Given the description of an element on the screen output the (x, y) to click on. 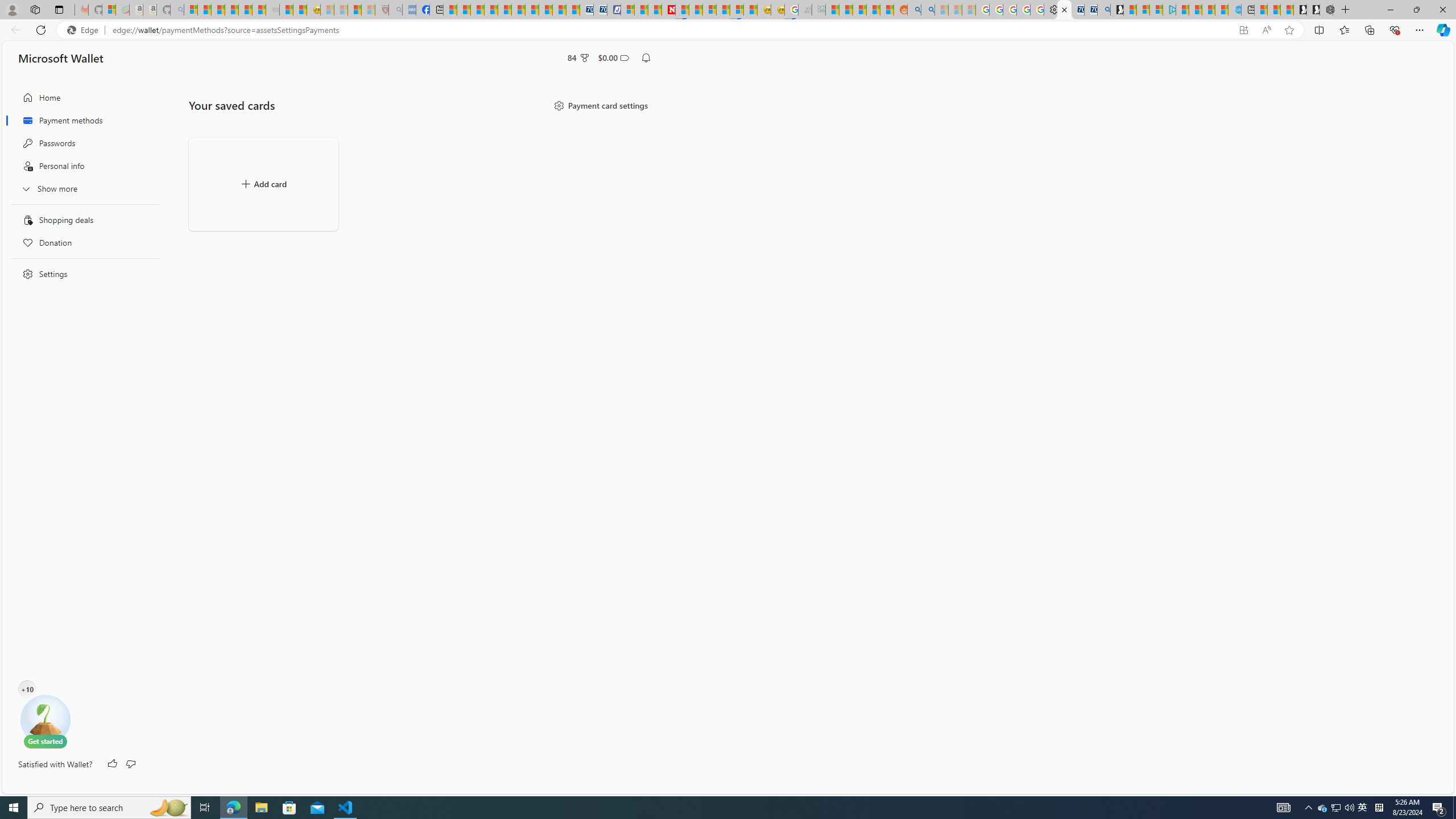
Wallet (1063, 9)
Show more (81, 188)
Shopping deals (81, 219)
Passwords (81, 142)
